Given the description of an element on the screen output the (x, y) to click on. 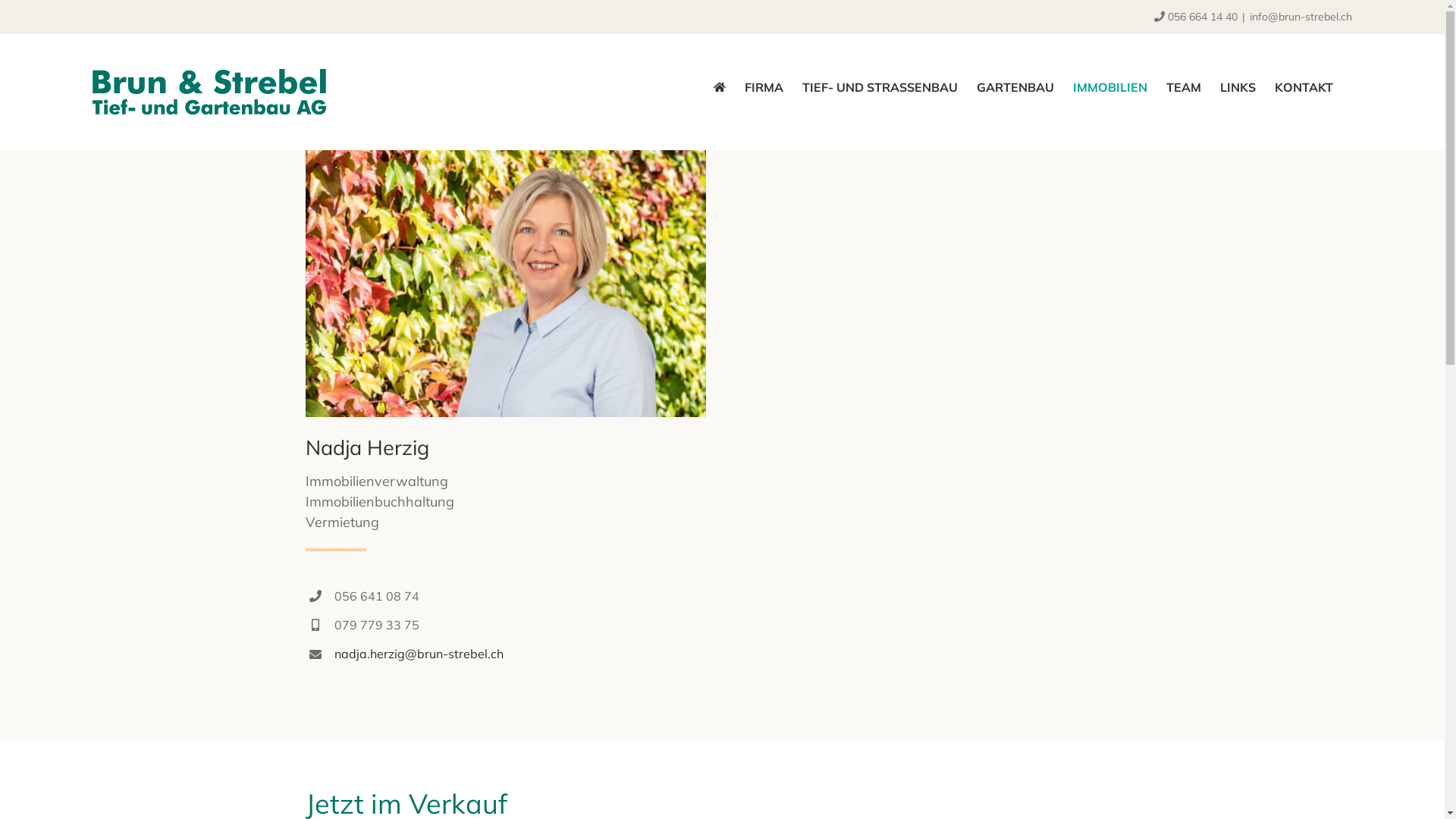
nadja.herzig@brun-strebel.ch Element type: text (418, 653)
GARTENBAU Element type: text (1015, 86)
KONTAKT Element type: text (1303, 86)
LINKS Element type: text (1237, 86)
TIEF- UND STRASSENBAU Element type: text (879, 86)
TEAM Element type: text (1183, 86)
FIRMA Element type: text (763, 86)
info@brun-strebel.ch Element type: text (1300, 16)
Nadia Herzig Element type: hover (504, 283)
IMMOBILIEN Element type: text (1110, 86)
